Given the description of an element on the screen output the (x, y) to click on. 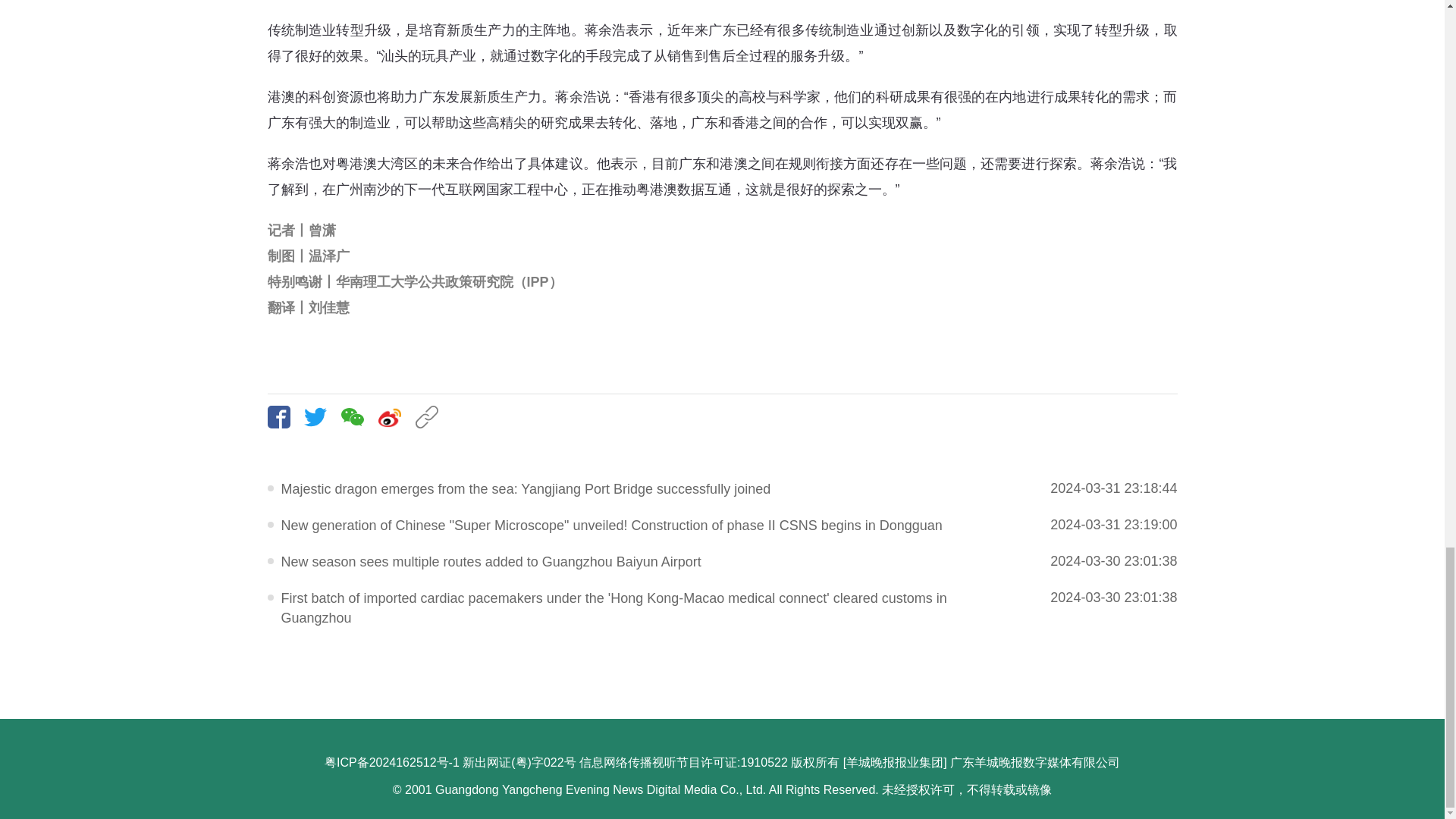
Facebook (283, 416)
Weibo (395, 416)
Twitter (320, 416)
